Given the description of an element on the screen output the (x, y) to click on. 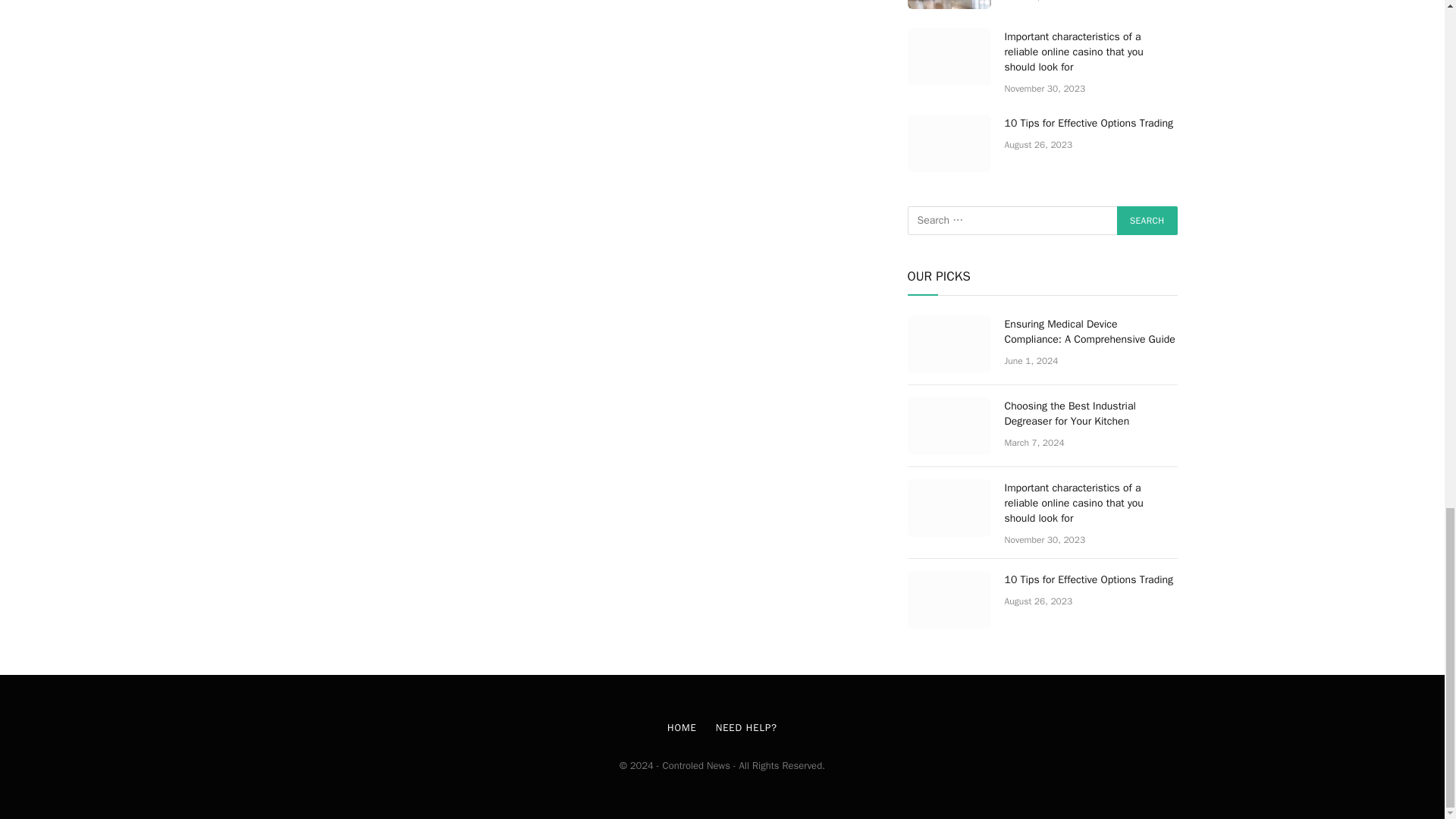
10 Tips for Effective Options Trading (948, 142)
Choosing the Best Industrial Degreaser for Your Kitchen (948, 426)
Search (1146, 220)
Choosing the Best Industrial Degreaser for Your Kitchen (948, 4)
Ensuring Medical Device Compliance: A Comprehensive Guide (948, 344)
Search (1146, 220)
